Given the description of an element on the screen output the (x, y) to click on. 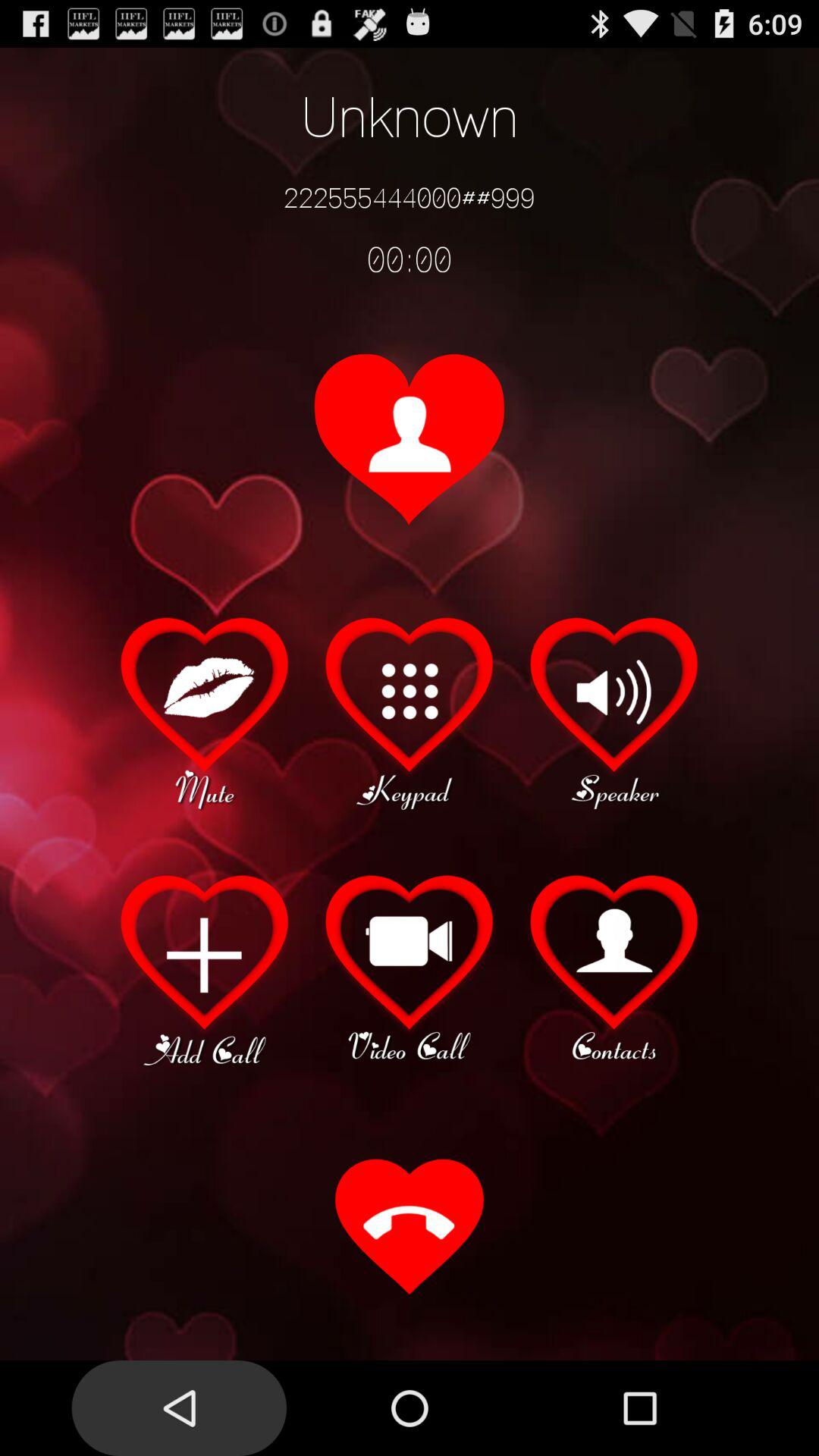
mute caller (204, 711)
